Given the description of an element on the screen output the (x, y) to click on. 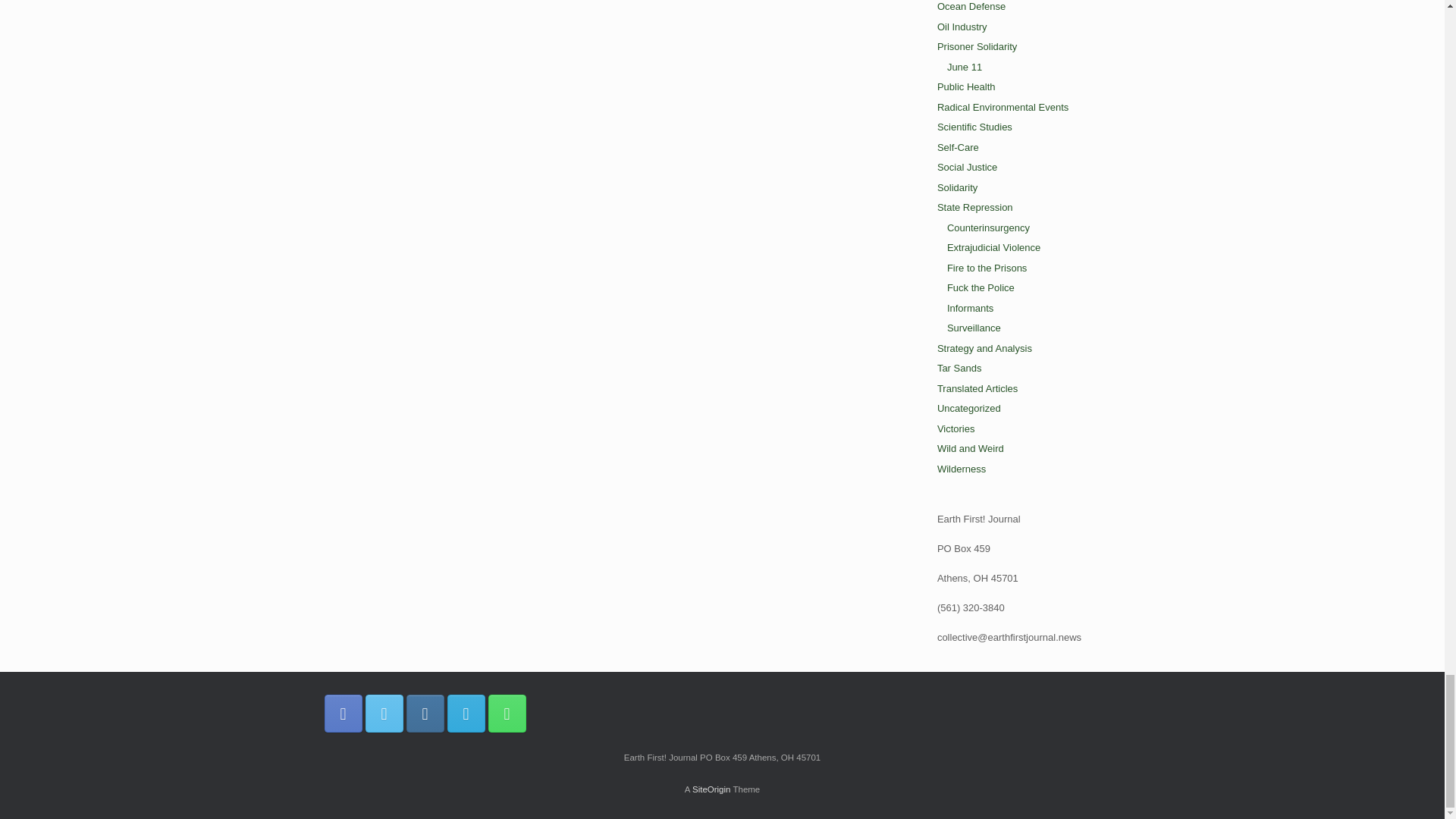
Earth First! Journal Email (465, 712)
Earth First! Journal Twitter (384, 712)
Earth First! Journal Facebook (343, 712)
Earth First! Journal Instagram (425, 712)
Earth First! Journal Phone (506, 712)
